Given the description of an element on the screen output the (x, y) to click on. 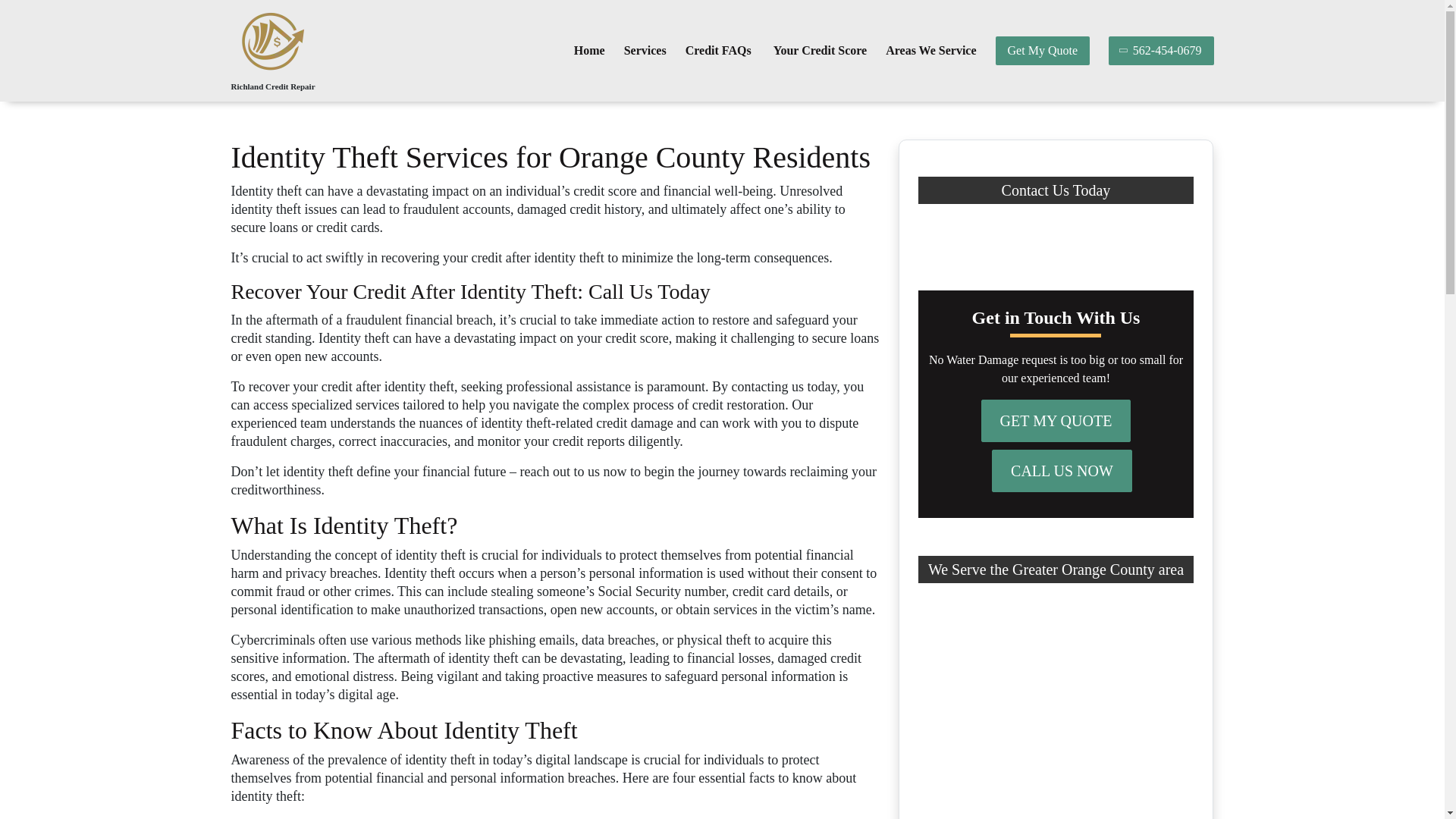
Your Credit Score (820, 51)
Services (645, 51)
CALL US NOW (1061, 470)
562-454-0679 (1161, 50)
Services (645, 51)
Home (589, 51)
Richland Credit Repair (272, 85)
Get My Quote (1042, 50)
Your Credit Score (820, 51)
GET MY QUOTE (1056, 420)
